Given the description of an element on the screen output the (x, y) to click on. 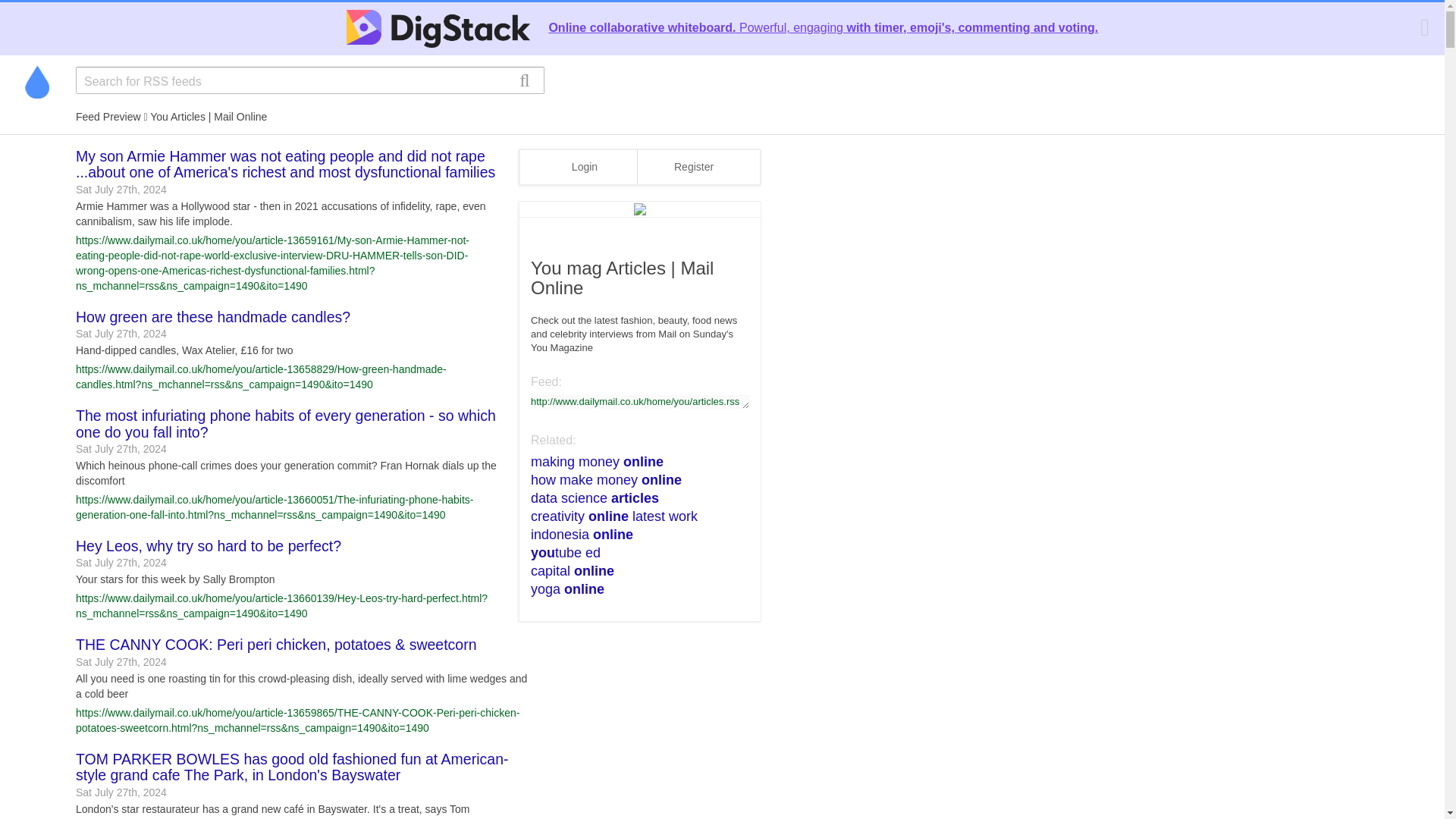
yoga online (632, 588)
youtube ed (632, 552)
Login (584, 166)
How green are these handmade candles? (212, 316)
indonesia online (632, 534)
Register (693, 166)
data science articles (632, 497)
capital online (632, 570)
creativity online latest work (632, 515)
how make money online (632, 479)
making money online (632, 461)
